Given the description of an element on the screen output the (x, y) to click on. 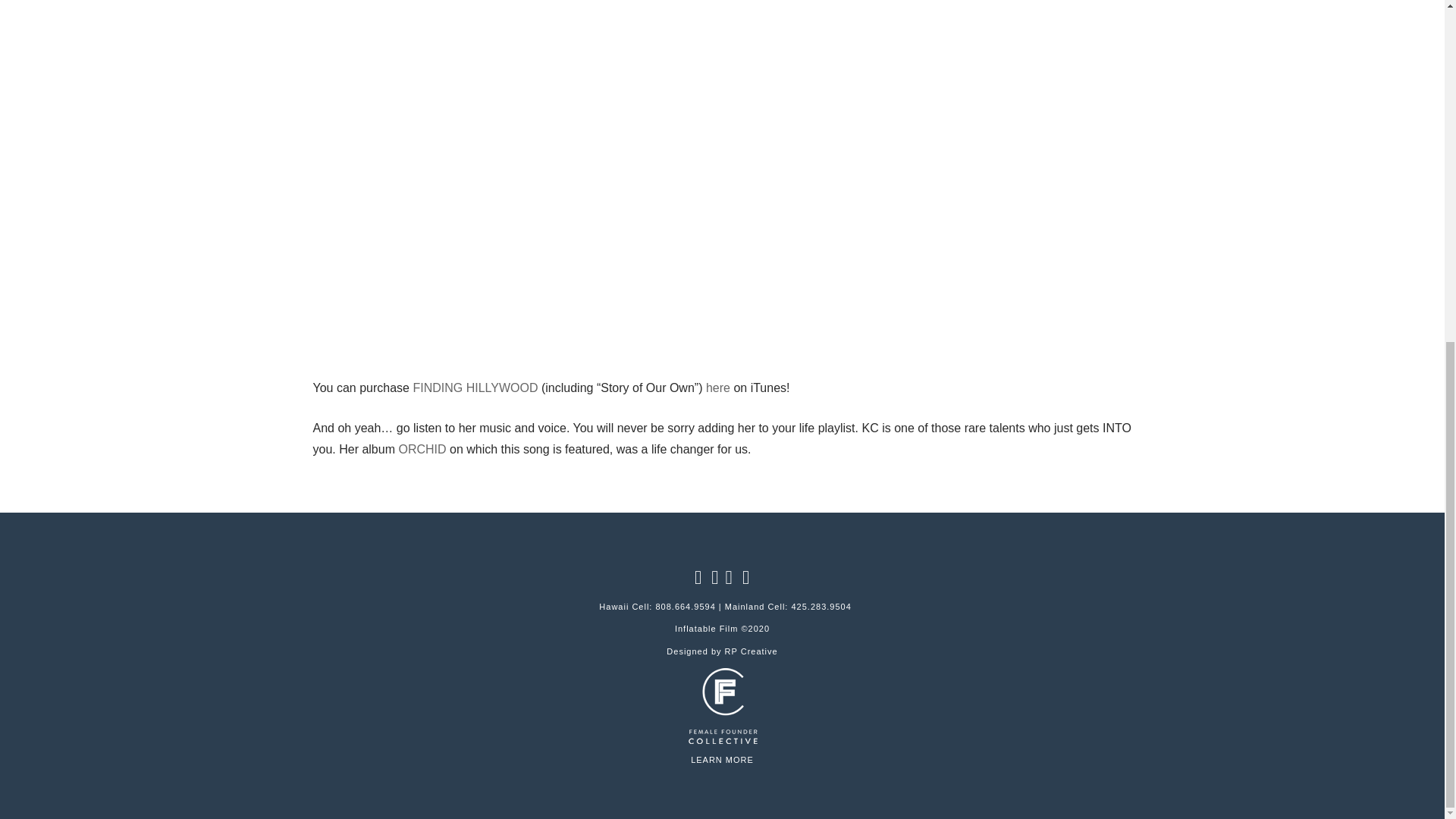
here (718, 387)
FINDING HILLYWOOD (474, 387)
LEARN MORE (722, 759)
425.283.9504 (820, 605)
Designed by RP Creative (721, 651)
ORCHID (421, 449)
Hawaii Cell: 808.664.9594 (657, 605)
